Given the description of an element on the screen output the (x, y) to click on. 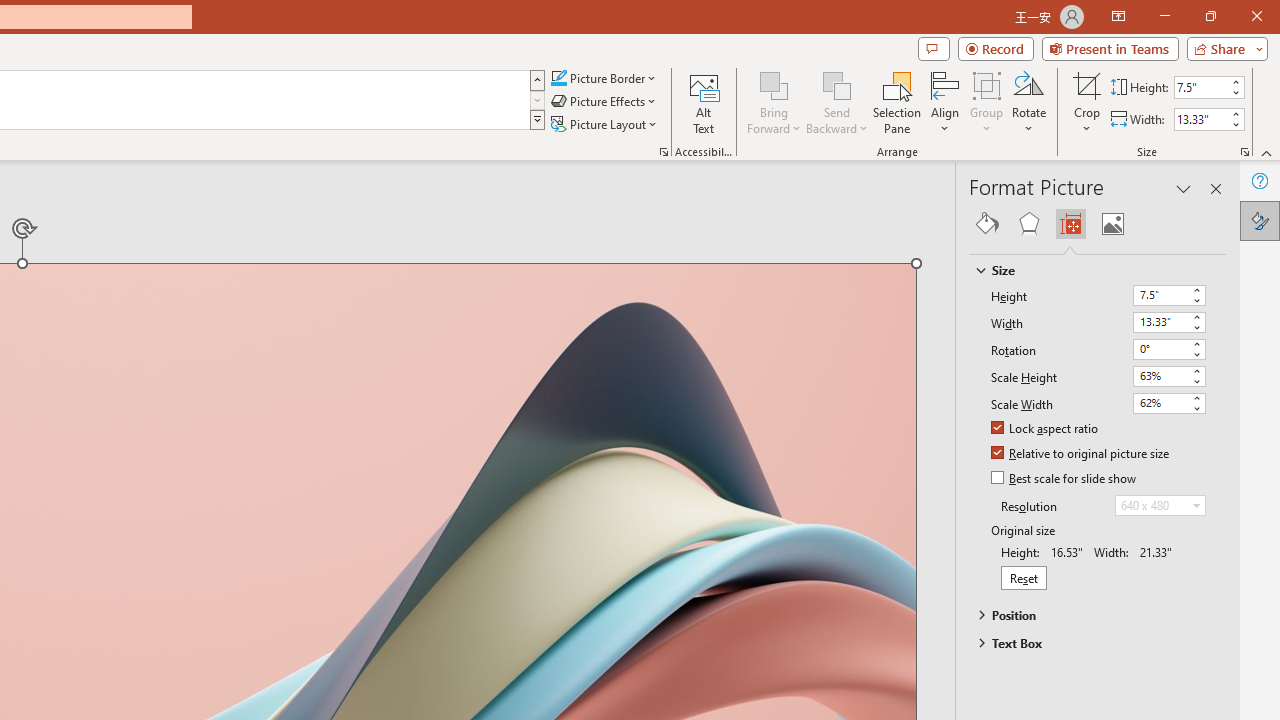
Scale Width (1160, 402)
Bring Forward (773, 84)
Effects (1028, 223)
Rotation (1160, 348)
Scale Height (1160, 376)
Size (1088, 269)
Rotate (1028, 102)
Shape Height (1201, 87)
Group (987, 102)
Picture (1112, 223)
Format Picture (1260, 220)
